Given the description of an element on the screen output the (x, y) to click on. 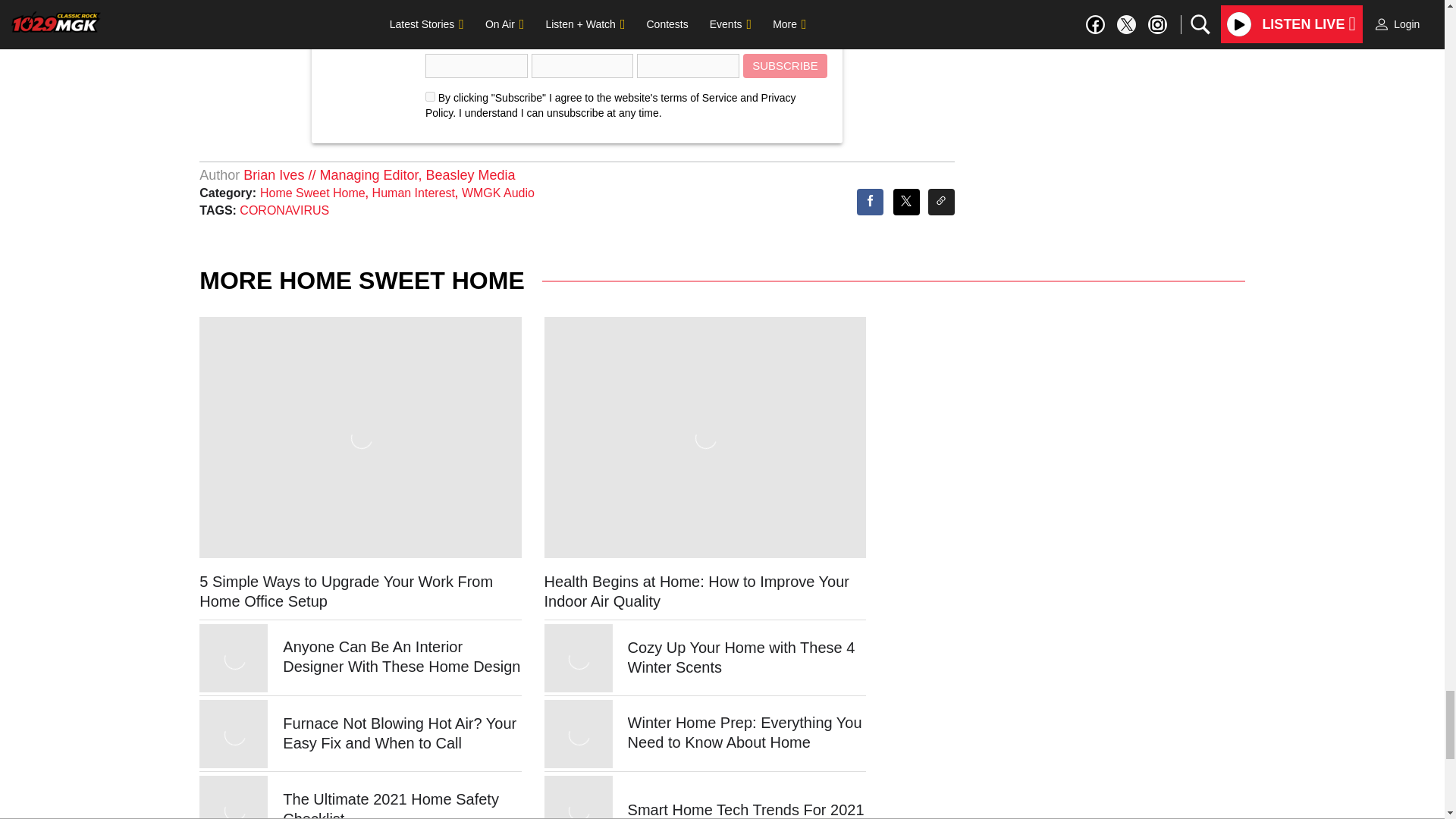
on (430, 96)
